Given the description of an element on the screen output the (x, y) to click on. 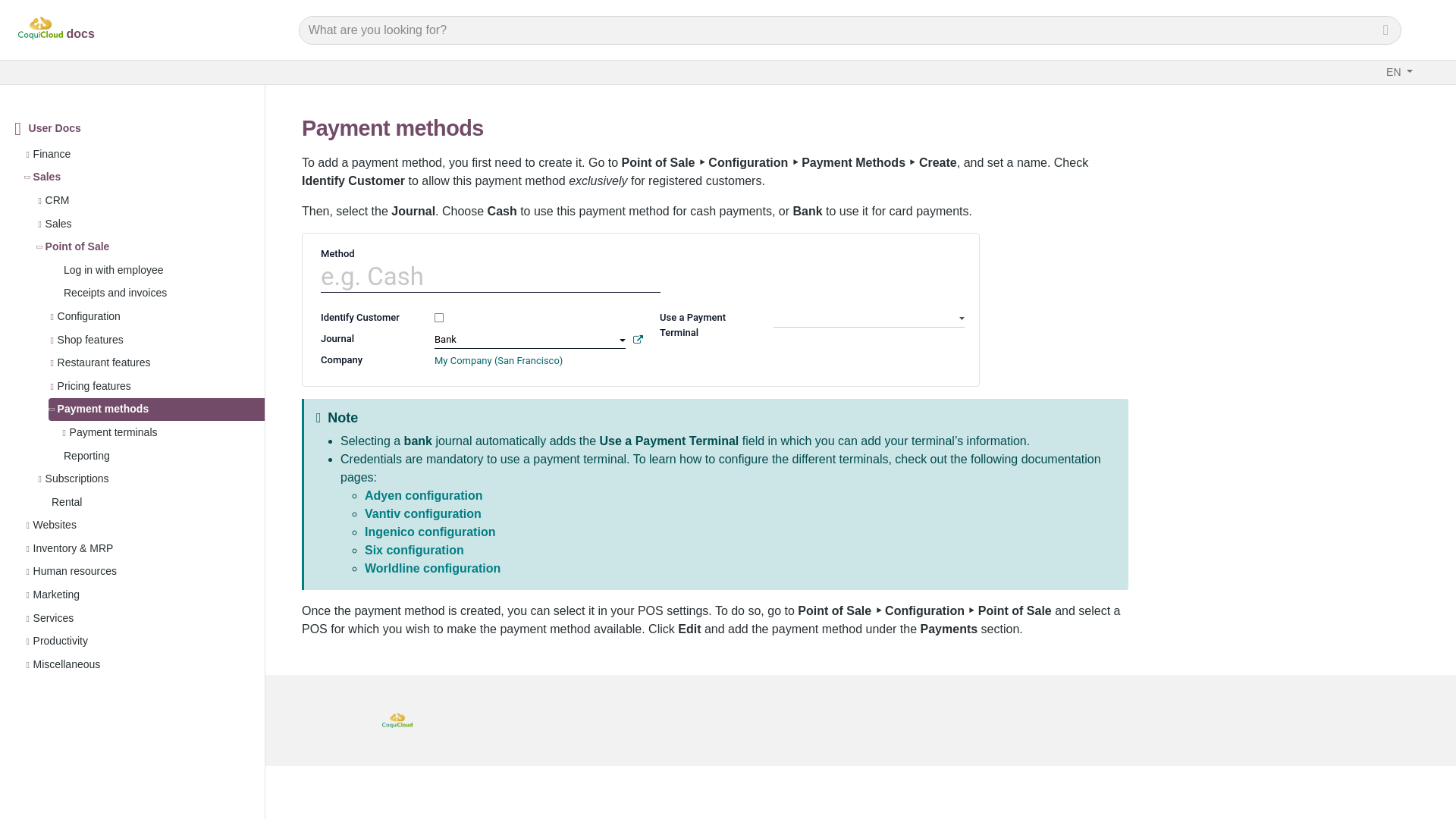
Finance (51, 154)
User Docs (54, 128)
